Given the description of an element on the screen output the (x, y) to click on. 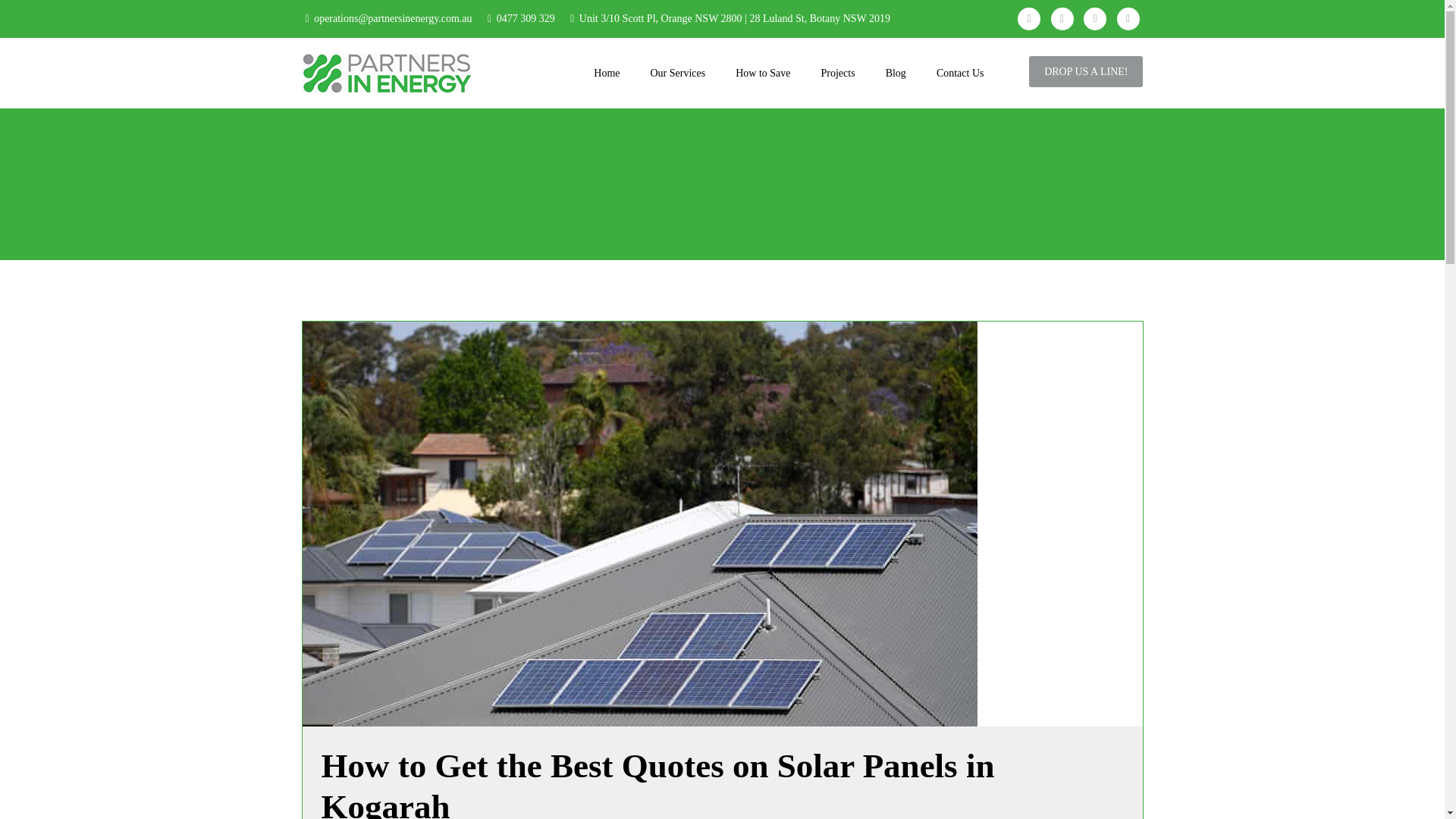
How to Get the Best Quotes on Solar Panels in Kogarah (657, 782)
Our Services (677, 71)
How to Save (762, 71)
DROP US A LINE! (1085, 71)
Our Services (677, 71)
Blog (895, 71)
Home (606, 71)
0477 309 329 (525, 18)
Contact Us (959, 71)
Projects (838, 71)
Home (606, 71)
How to Save (762, 71)
Contact Us (959, 71)
Blog (895, 71)
Projects (838, 71)
